Given the description of an element on the screen output the (x, y) to click on. 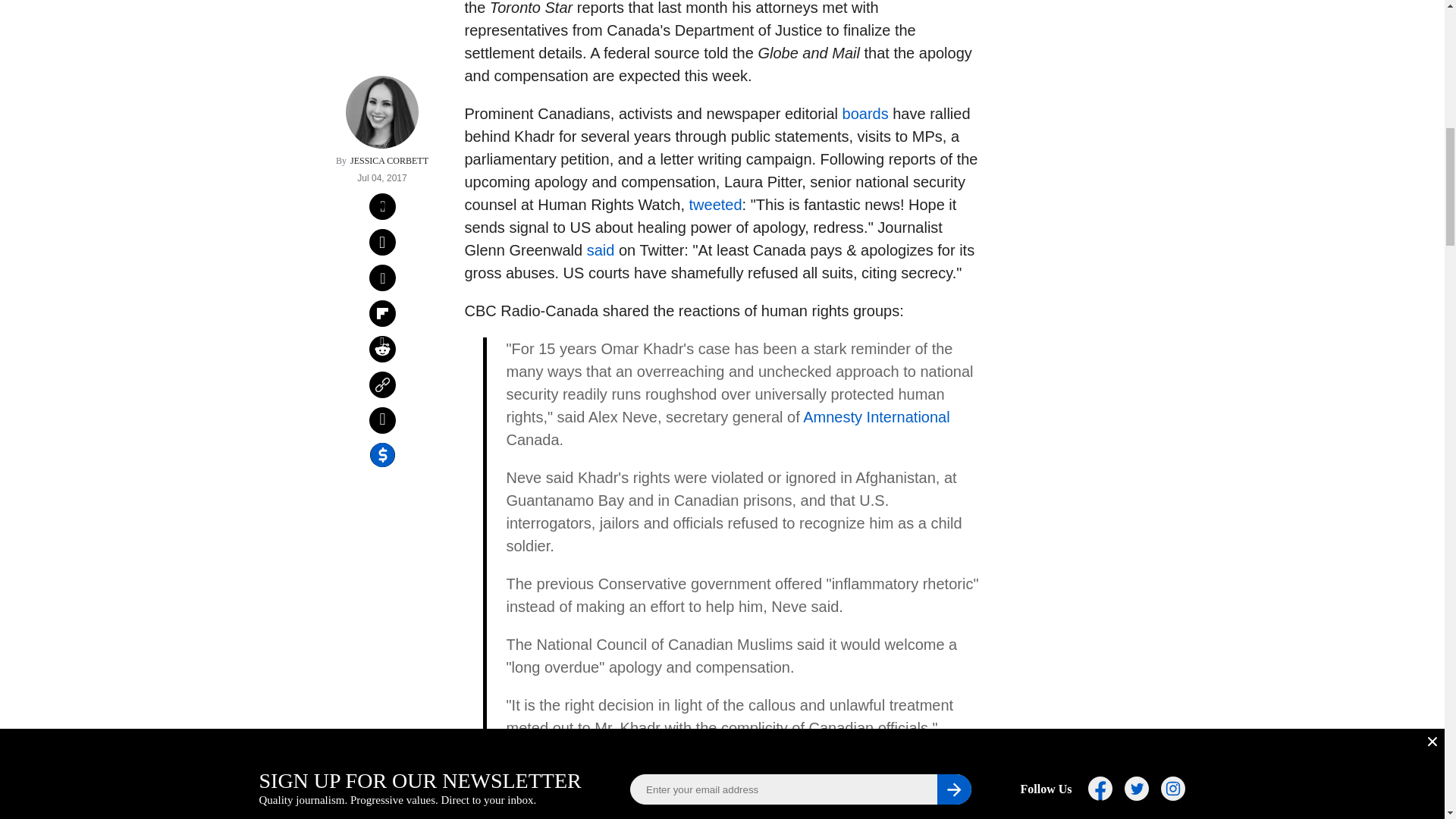
Donate Button (1051, 207)
Copy this link to clipboard (382, 183)
